Given the description of an element on the screen output the (x, y) to click on. 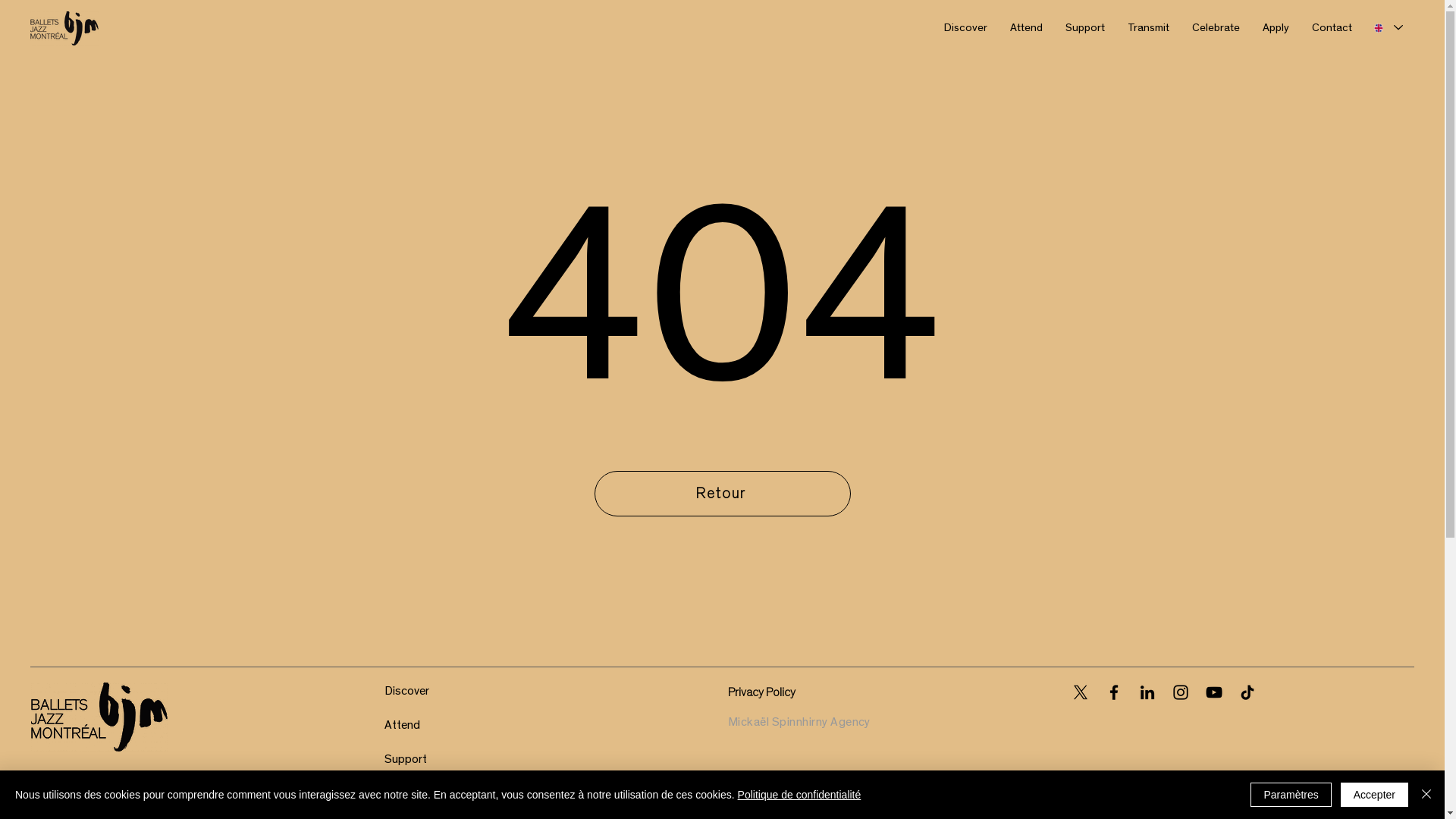
Retour Element type: text (722, 493)
Attend Element type: text (402, 724)
Privacy Policy Element type: text (761, 692)
Discover Element type: text (406, 690)
Transmit Element type: text (406, 792)
Accepter Element type: text (1374, 794)
Contact Element type: text (1331, 27)
Support Element type: text (405, 759)
